Given the description of an element on the screen output the (x, y) to click on. 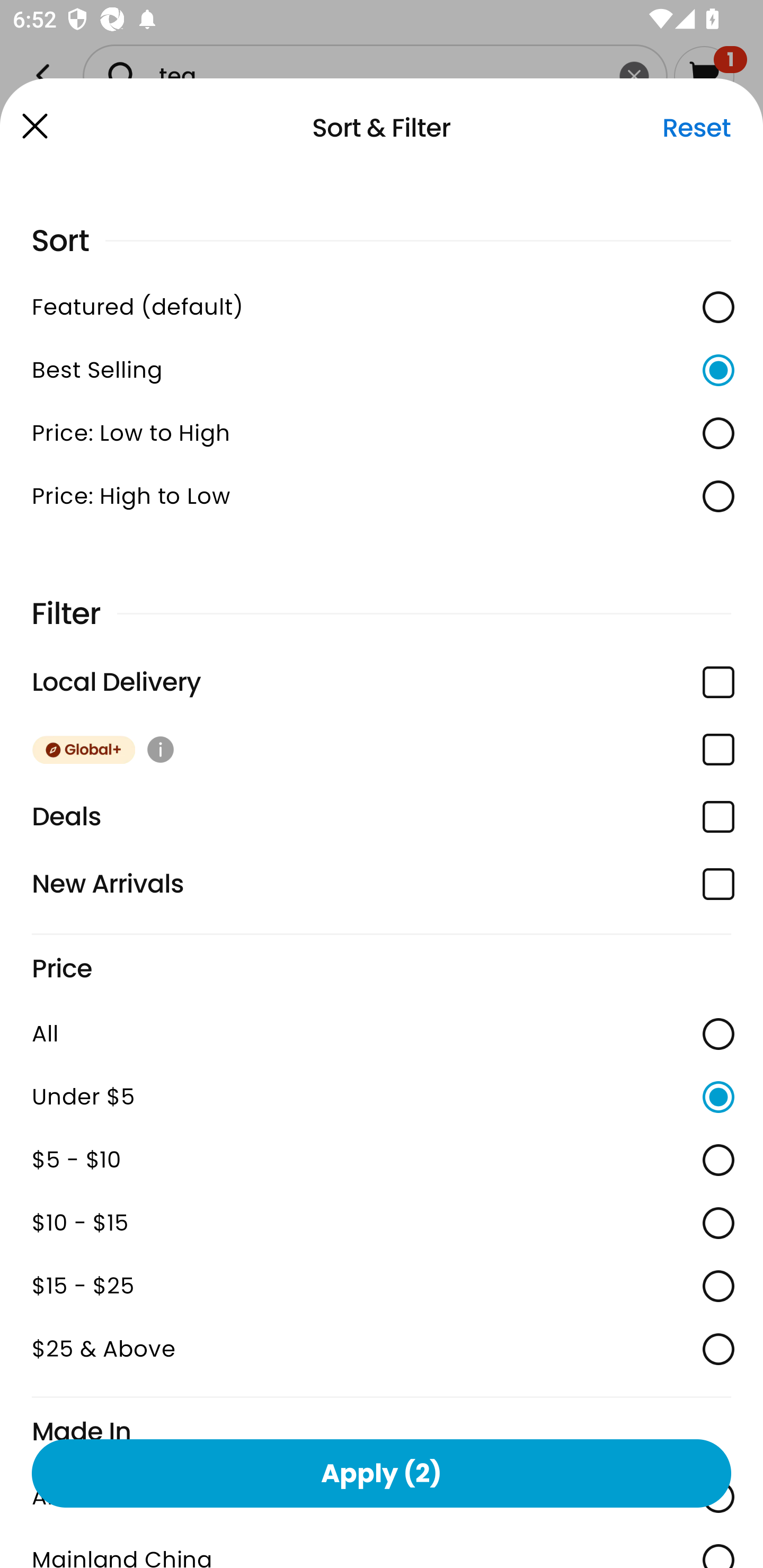
Reset (696, 127)
Apply (2) (381, 1472)
